Given the description of an element on the screen output the (x, y) to click on. 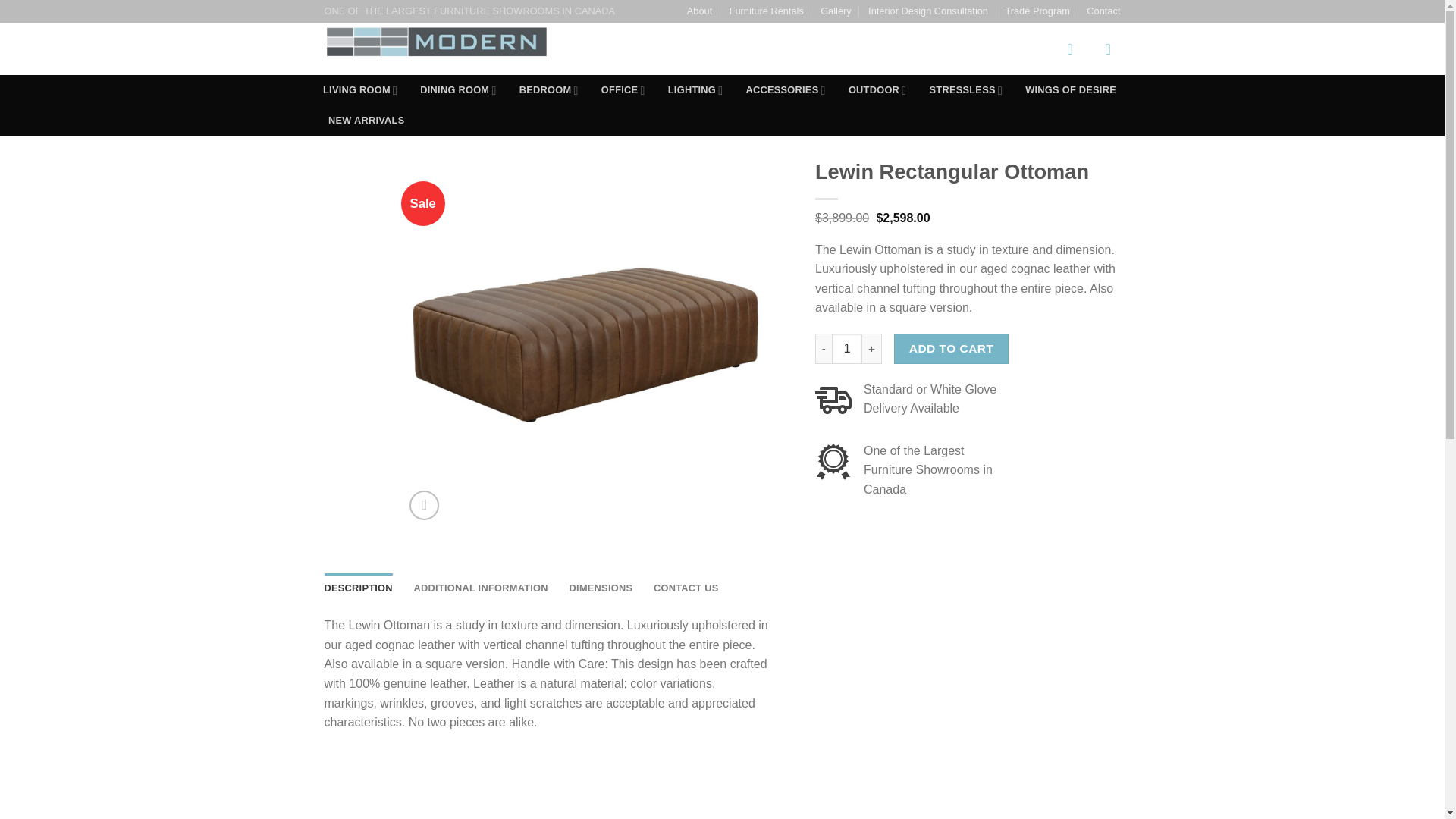
Trade Program (1037, 11)
Gallery (836, 11)
Interior Design Consultation (927, 11)
1 (846, 348)
Zoom (424, 505)
Contact (1102, 11)
Furniture Rentals (766, 11)
About (699, 11)
Search (1029, 49)
LIVING ROOM (359, 90)
